Given the description of an element on the screen output the (x, y) to click on. 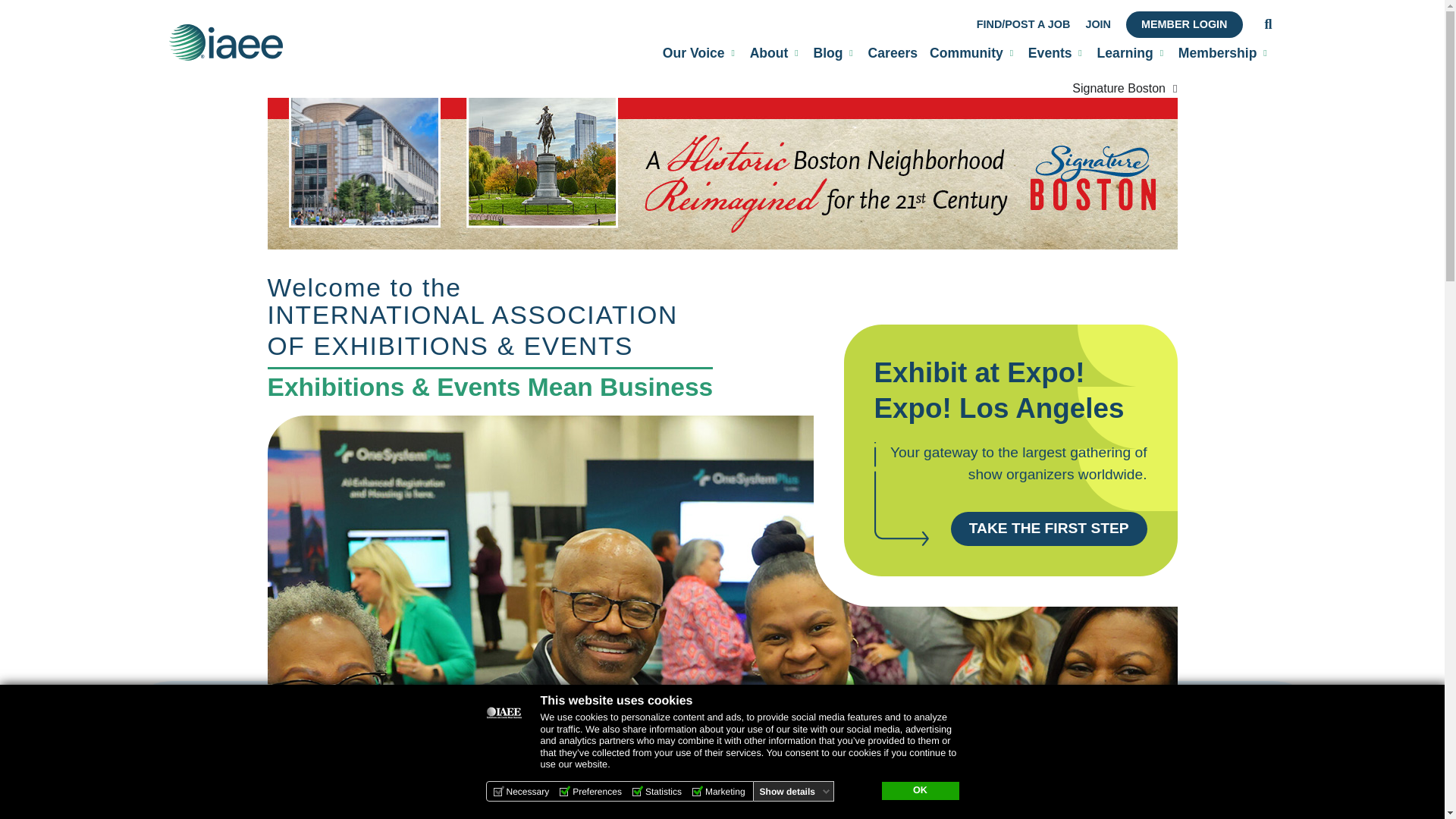
Show details (794, 791)
OK (919, 791)
